Given the description of an element on the screen output the (x, y) to click on. 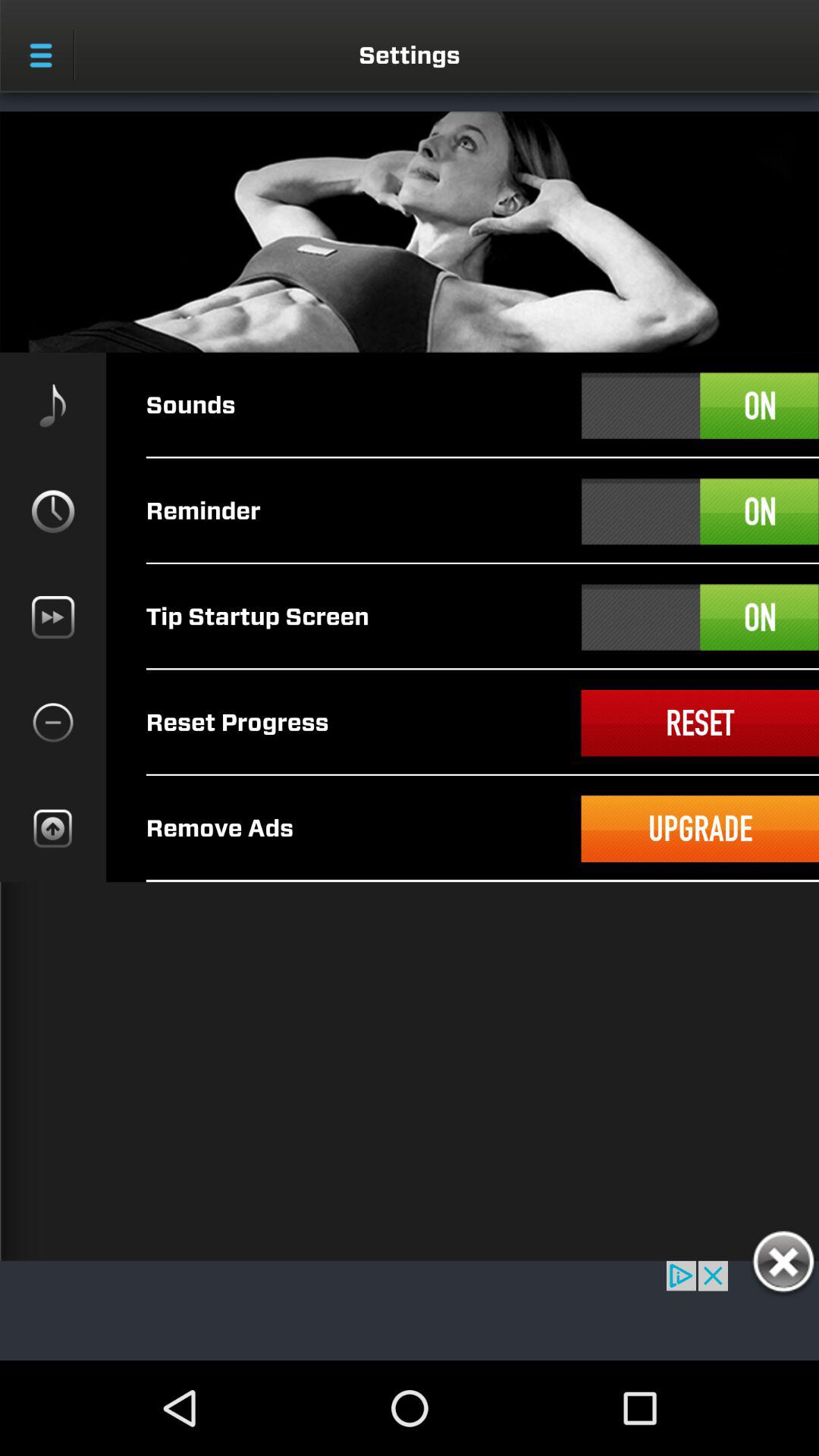
toggle a select option (700, 405)
